Given the description of an element on the screen output the (x, y) to click on. 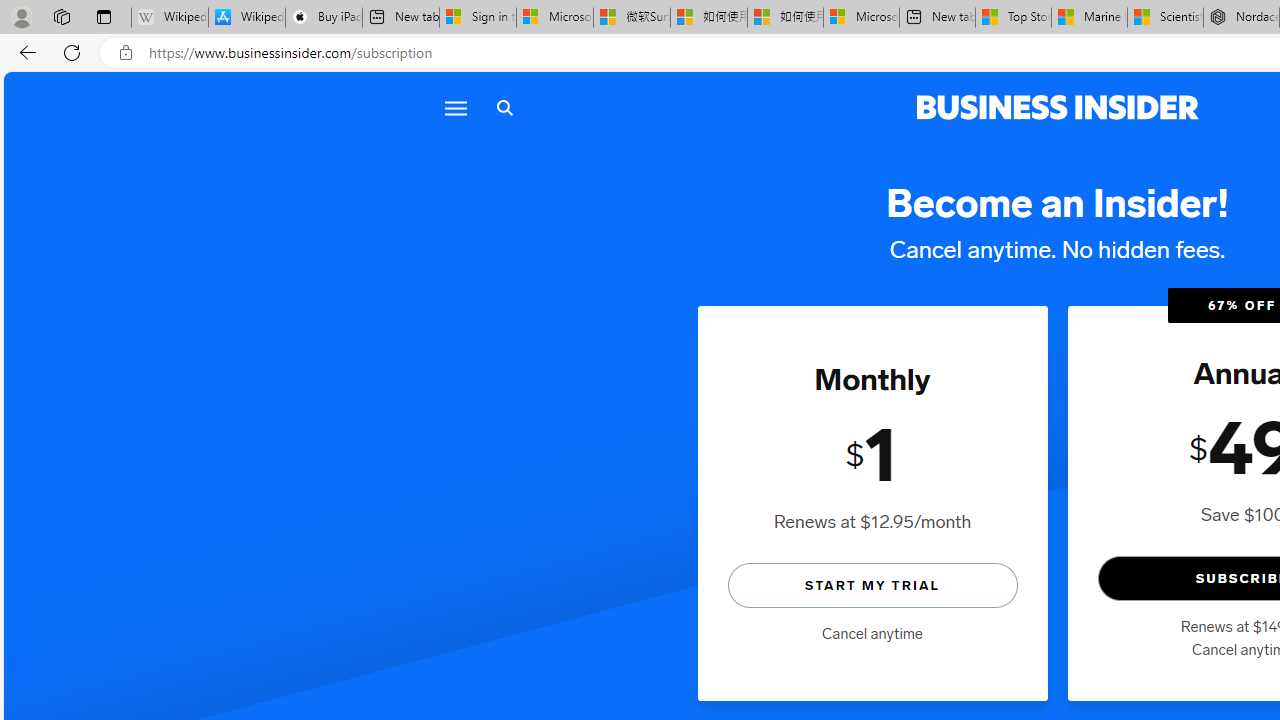
Business Insider logo (1057, 107)
Go to the search page. (504, 107)
START MY TRIAL (872, 584)
Cancel anytime (872, 633)
Search icon (504, 107)
